Given the description of an element on the screen output the (x, y) to click on. 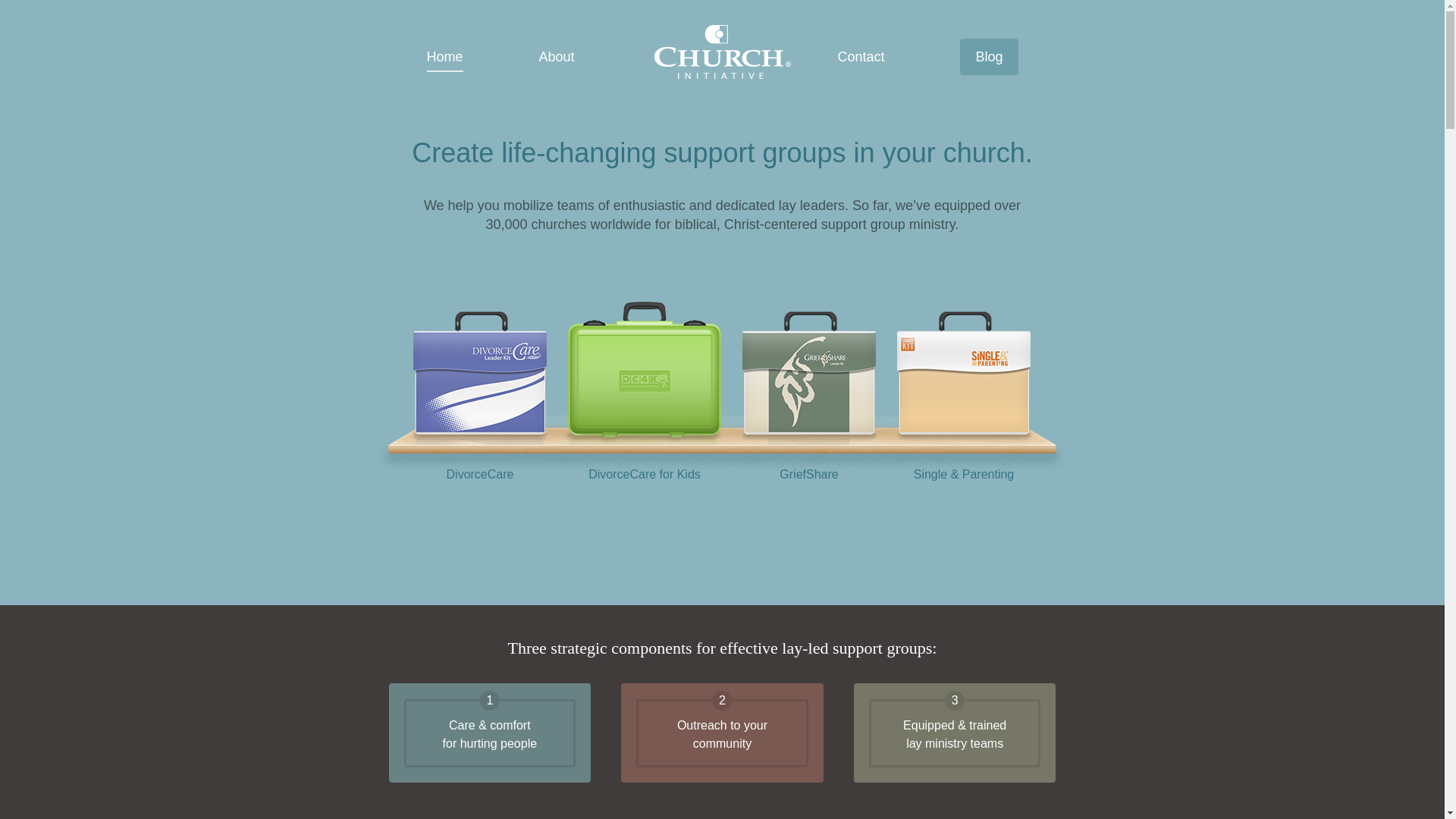
Contact (860, 56)
GriefShare (809, 470)
Home (444, 57)
DivorceCare for Kids (643, 470)
Blog (988, 56)
DivorceCare (480, 470)
About (556, 56)
